Given the description of an element on the screen output the (x, y) to click on. 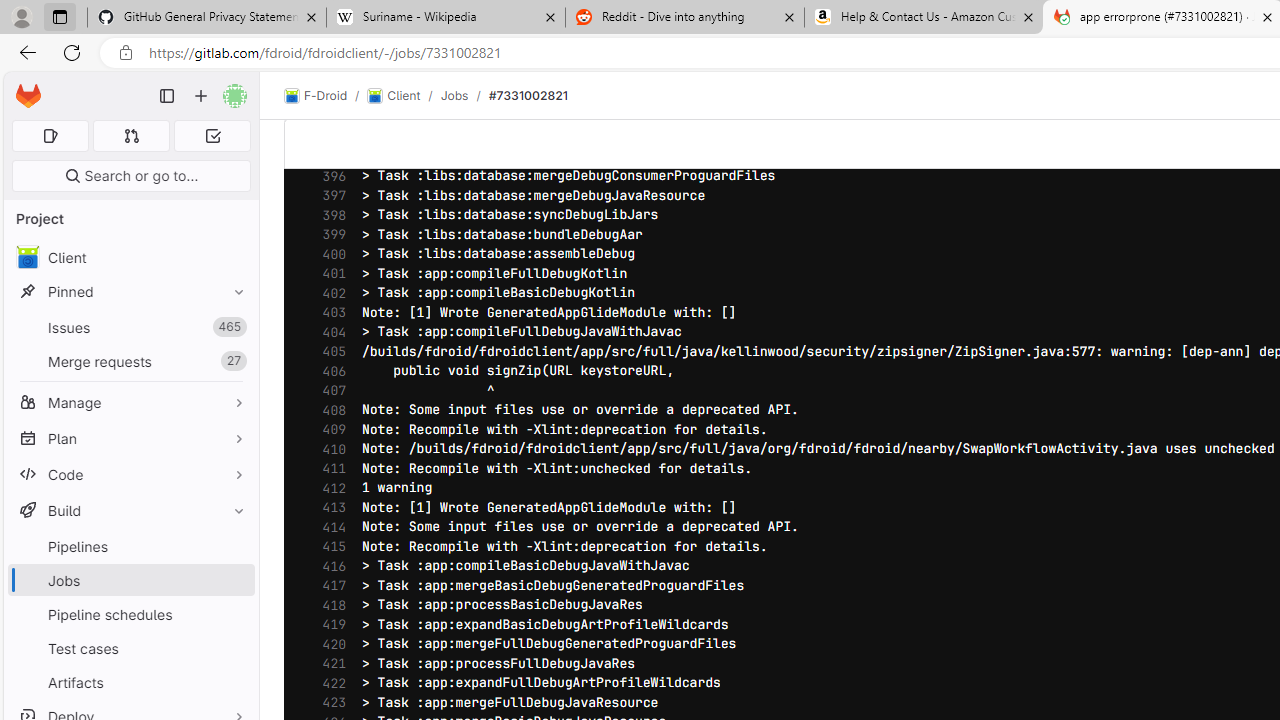
411 (329, 468)
Build (130, 510)
Pin Test cases (234, 647)
408 (329, 410)
Suriname - Wikipedia (445, 17)
Issues465 (130, 327)
398 (329, 215)
Pin Artifacts (234, 682)
GitHub General Privacy Statement - GitHub Docs (207, 17)
Client (130, 257)
